Given the description of an element on the screen output the (x, y) to click on. 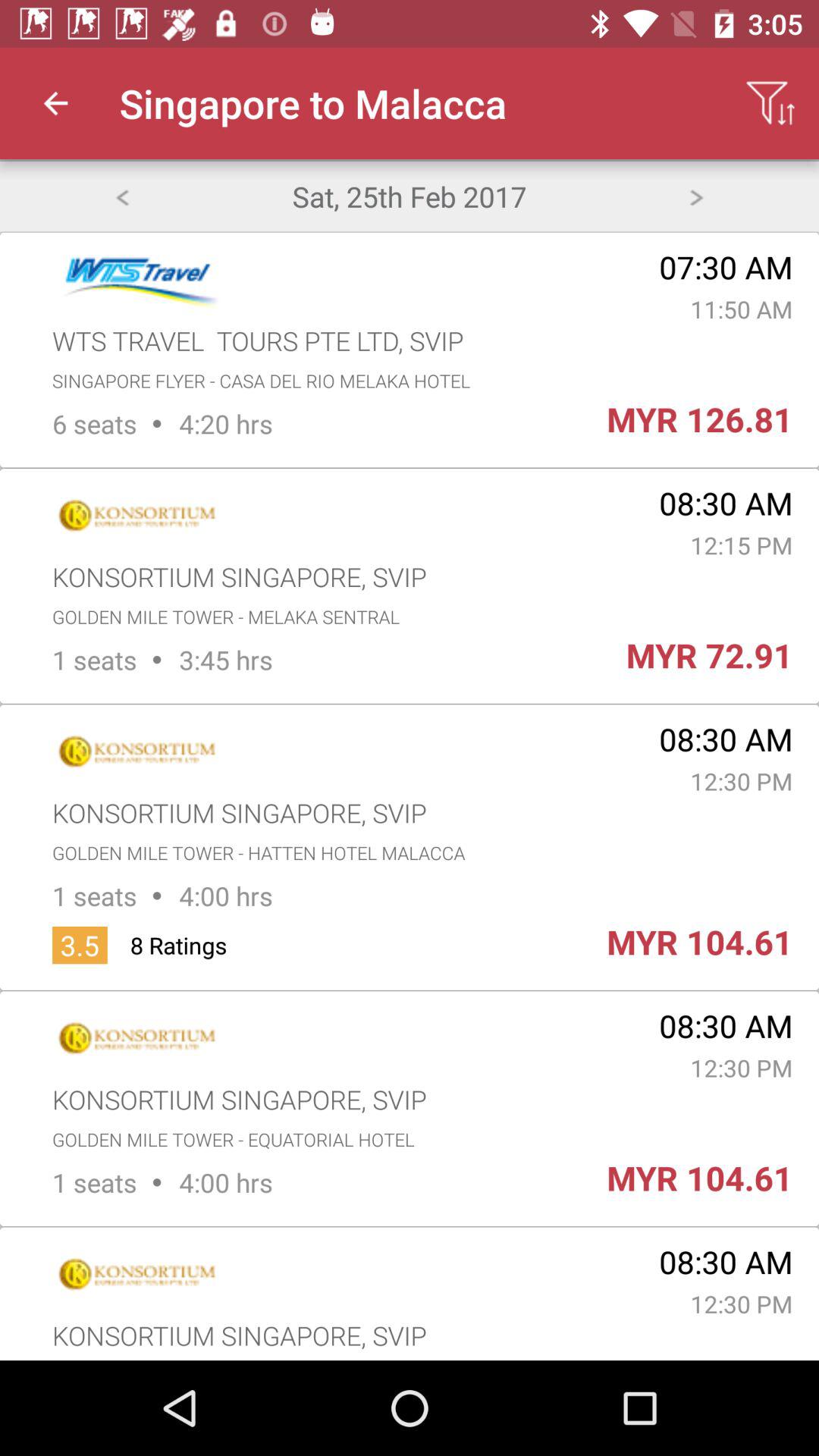
go next (696, 196)
